Given the description of an element on the screen output the (x, y) to click on. 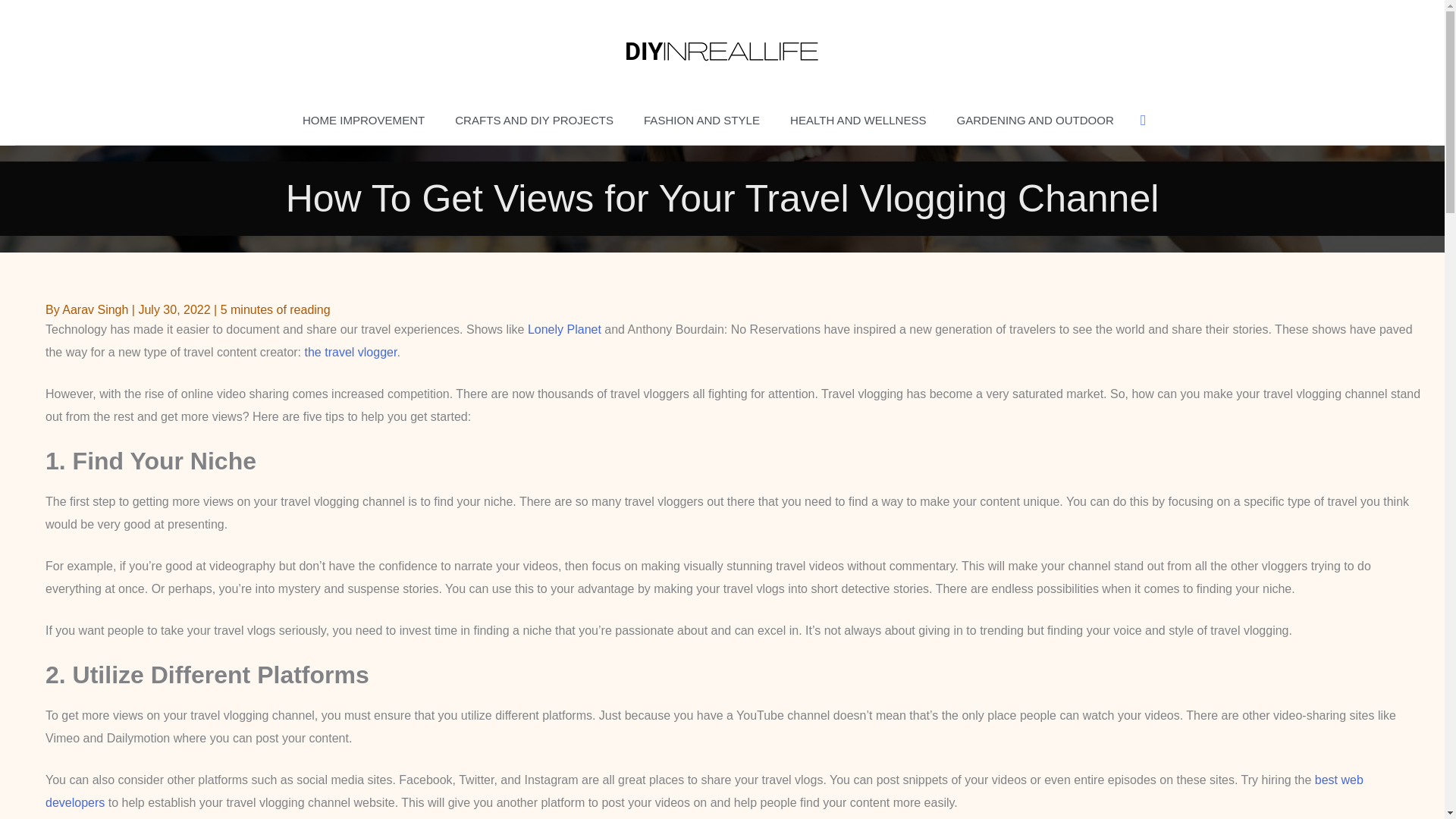
FASHION AND STYLE (701, 120)
HOME IMPROVEMENT (362, 120)
View all posts by Aarav Singh (97, 309)
the travel vlogger (350, 351)
GARDENING AND OUTDOOR (1035, 120)
HEALTH AND WELLNESS (858, 120)
best web developers (703, 791)
Lonely Planet (564, 328)
CRAFTS AND DIY PROJECTS (533, 120)
Aarav Singh (97, 309)
